Given the description of an element on the screen output the (x, y) to click on. 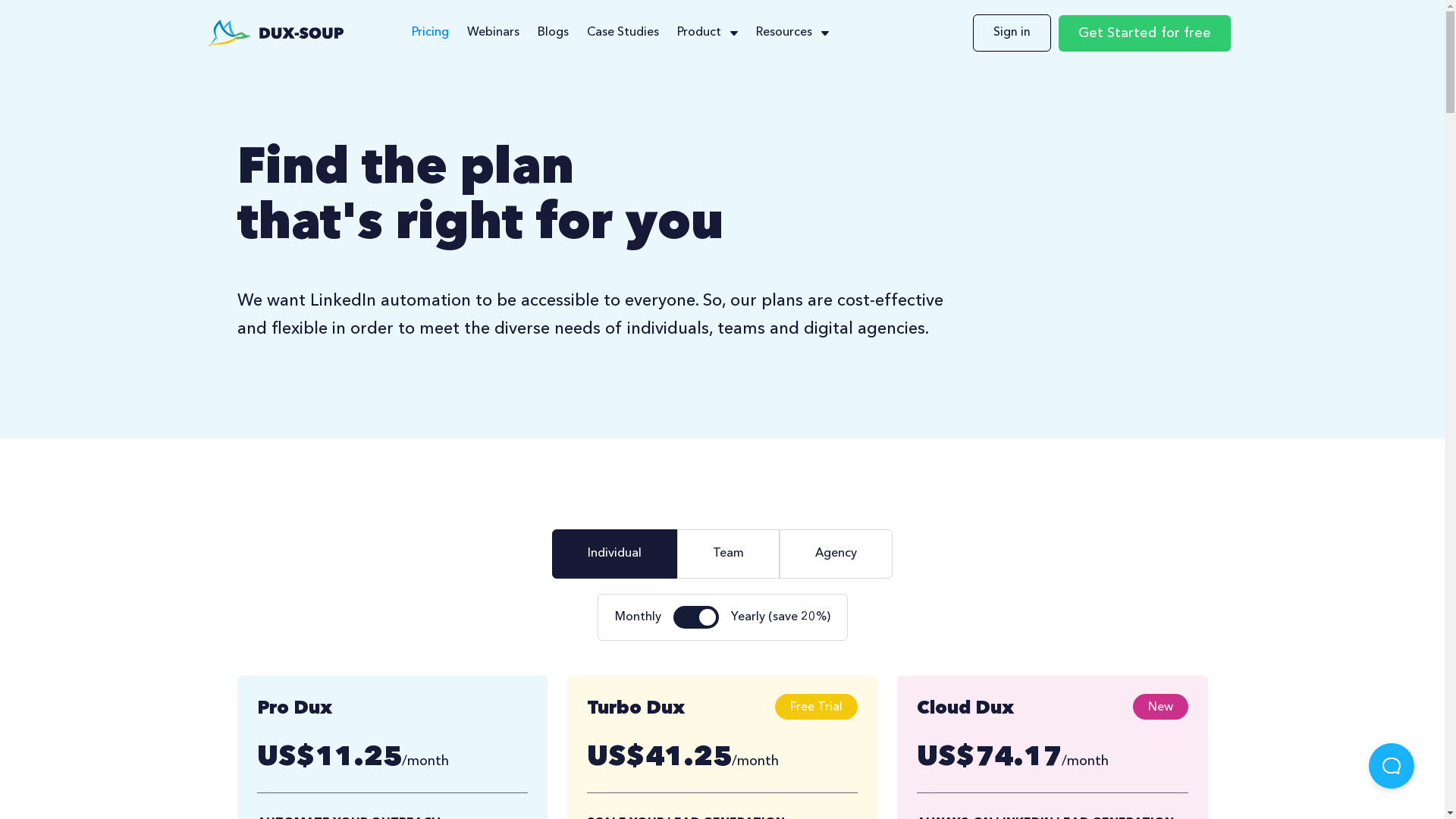
Get Started for free Element type: text (1144, 33)
Free Trial Element type: text (816, 706)
Team Element type: text (728, 553)
Case Studies Element type: text (622, 32)
Sign in Element type: text (1011, 32)
Individual Element type: text (614, 553)
Blogs Element type: text (552, 32)
Webinars Element type: text (493, 32)
Pricing Element type: text (430, 32)
Agency Element type: text (835, 553)
